Given the description of an element on the screen output the (x, y) to click on. 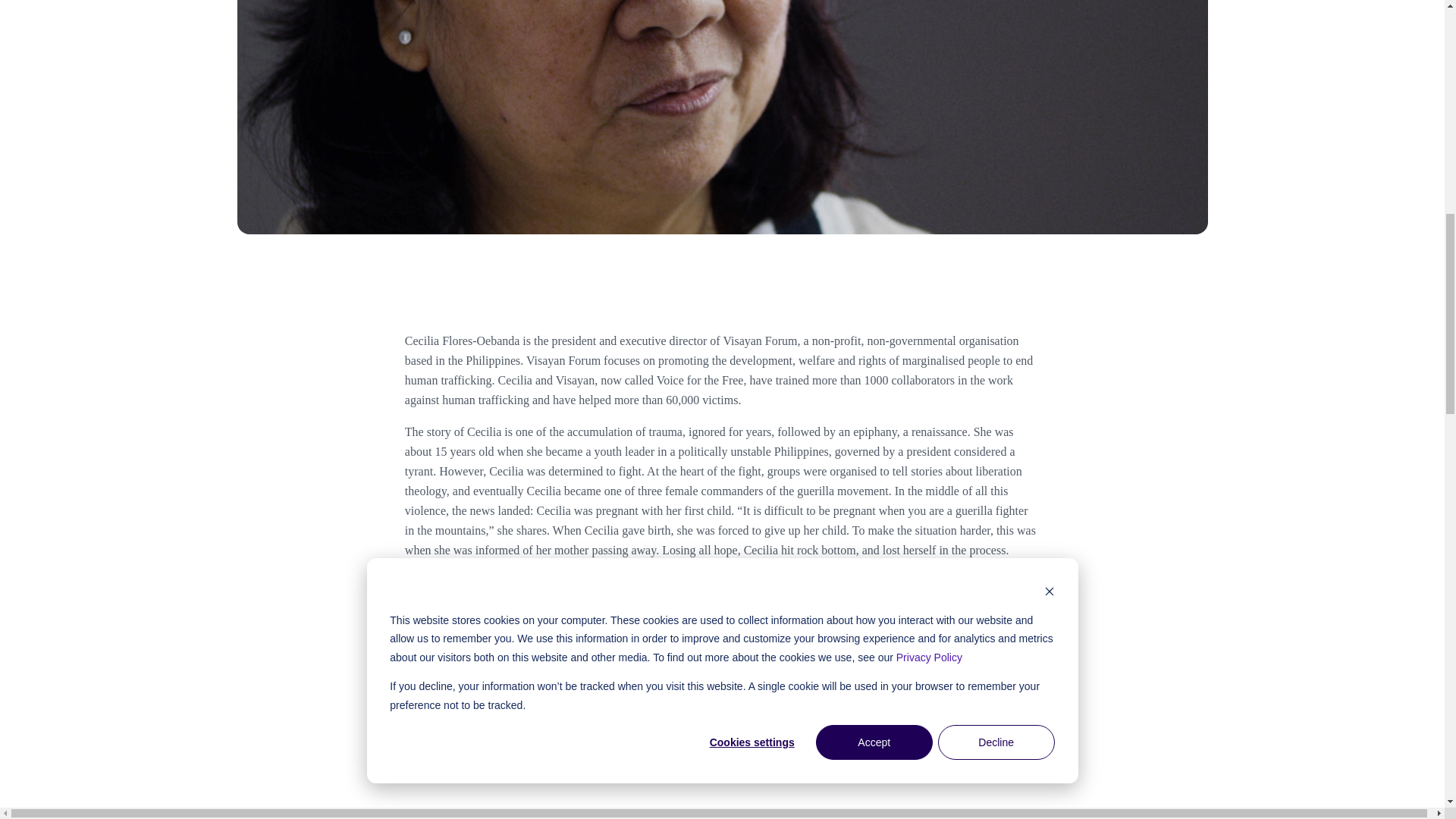
VOICES - Cecilia Flores-Oebanda (594, 678)
